Given the description of an element on the screen output the (x, y) to click on. 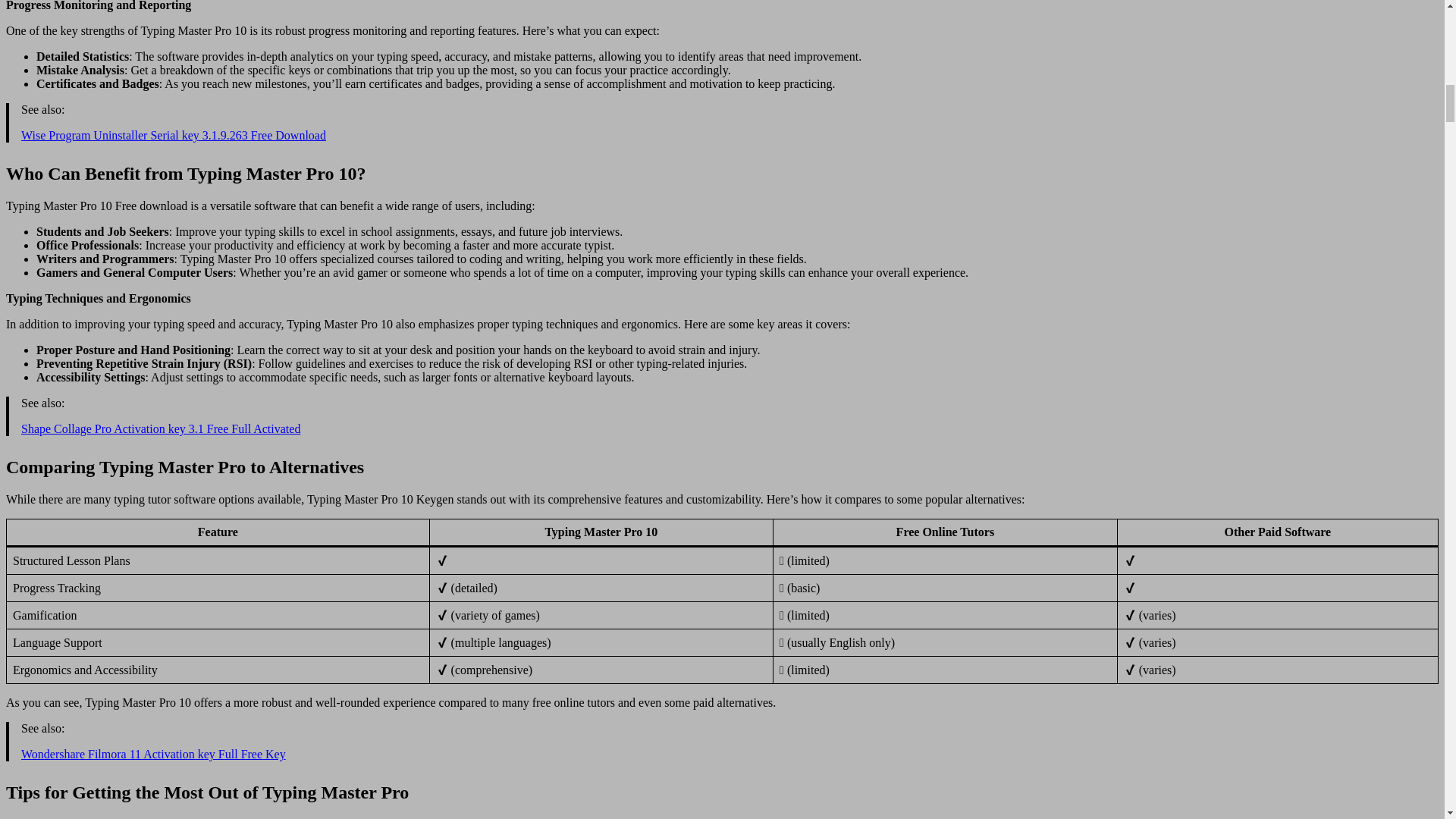
Wise Program Uninstaller Serial key 3.1.9.263 Free Download (173, 134)
Wondershare Filmora 11 Activation key Full Free Key (153, 753)
Shape Collage Pro Activation key 3.1 Free Full Activated (160, 428)
